Given the description of an element on the screen output the (x, y) to click on. 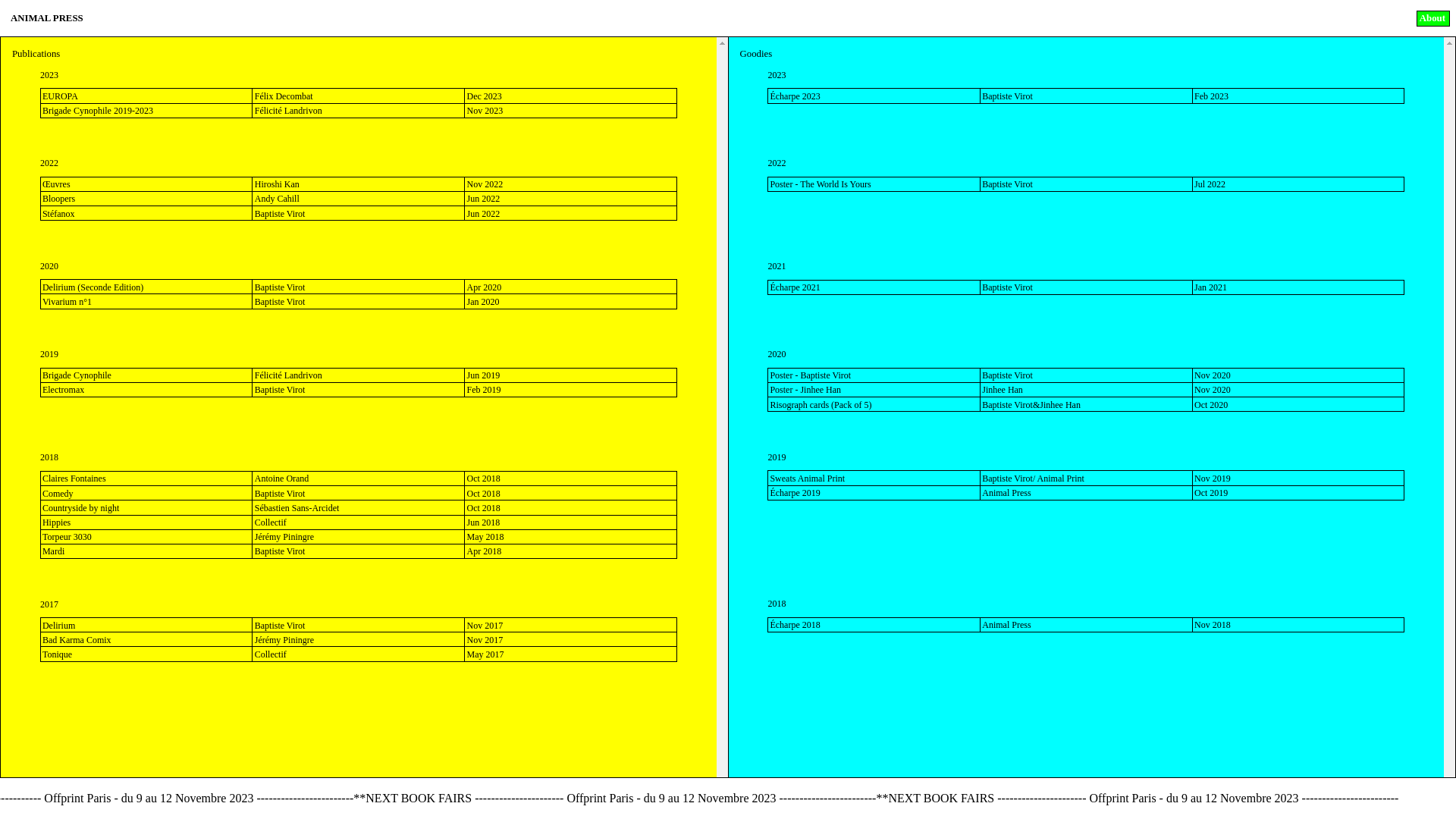
ANIMAL PRESS Element type: text (707, 18)
About Element type: text (1432, 18)
